Given the description of an element on the screen output the (x, y) to click on. 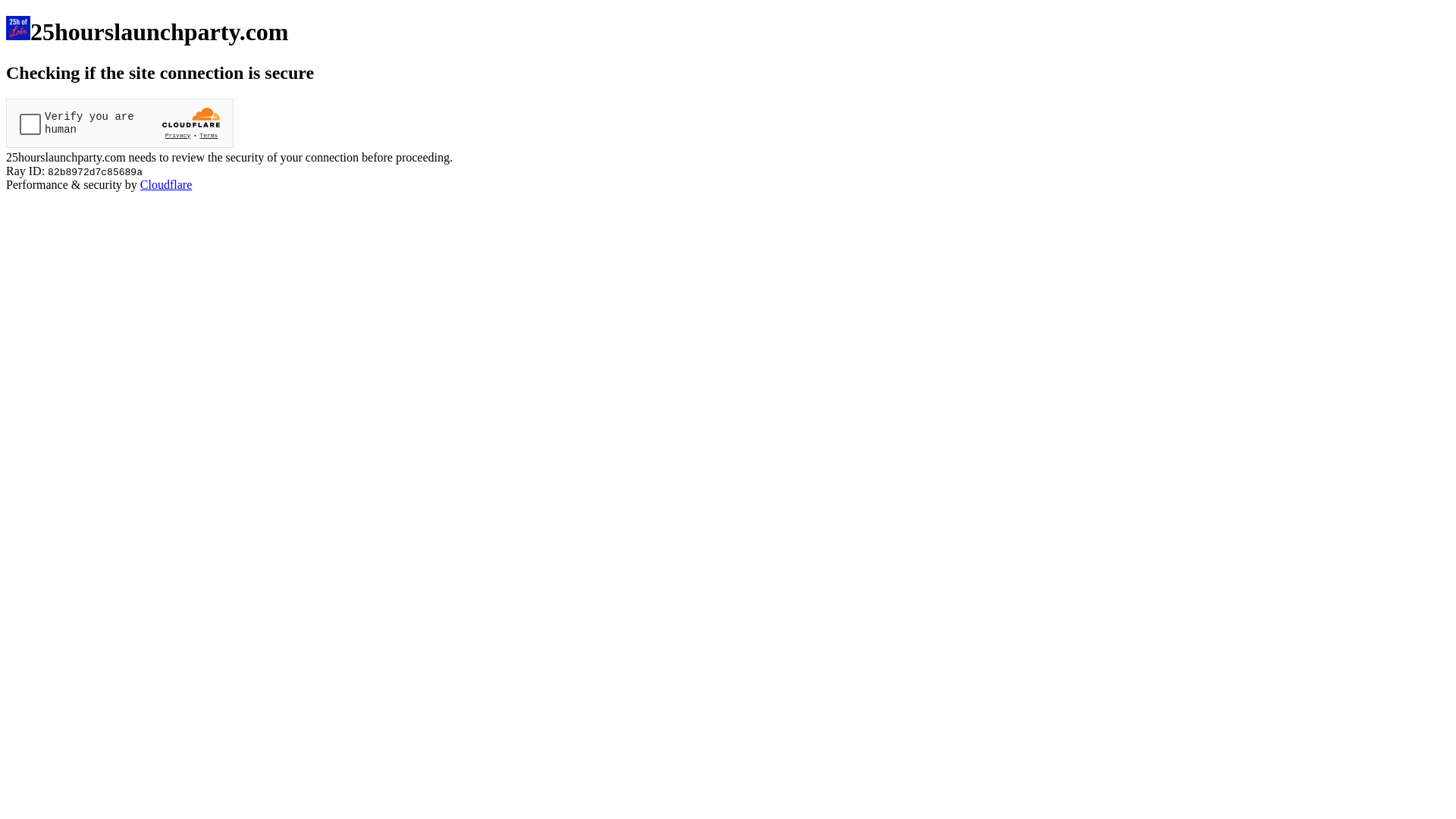
Cloudflare Element type: text (165, 184)
Widget containing a Cloudflare security challenge Element type: hover (119, 122)
